Given the description of an element on the screen output the (x, y) to click on. 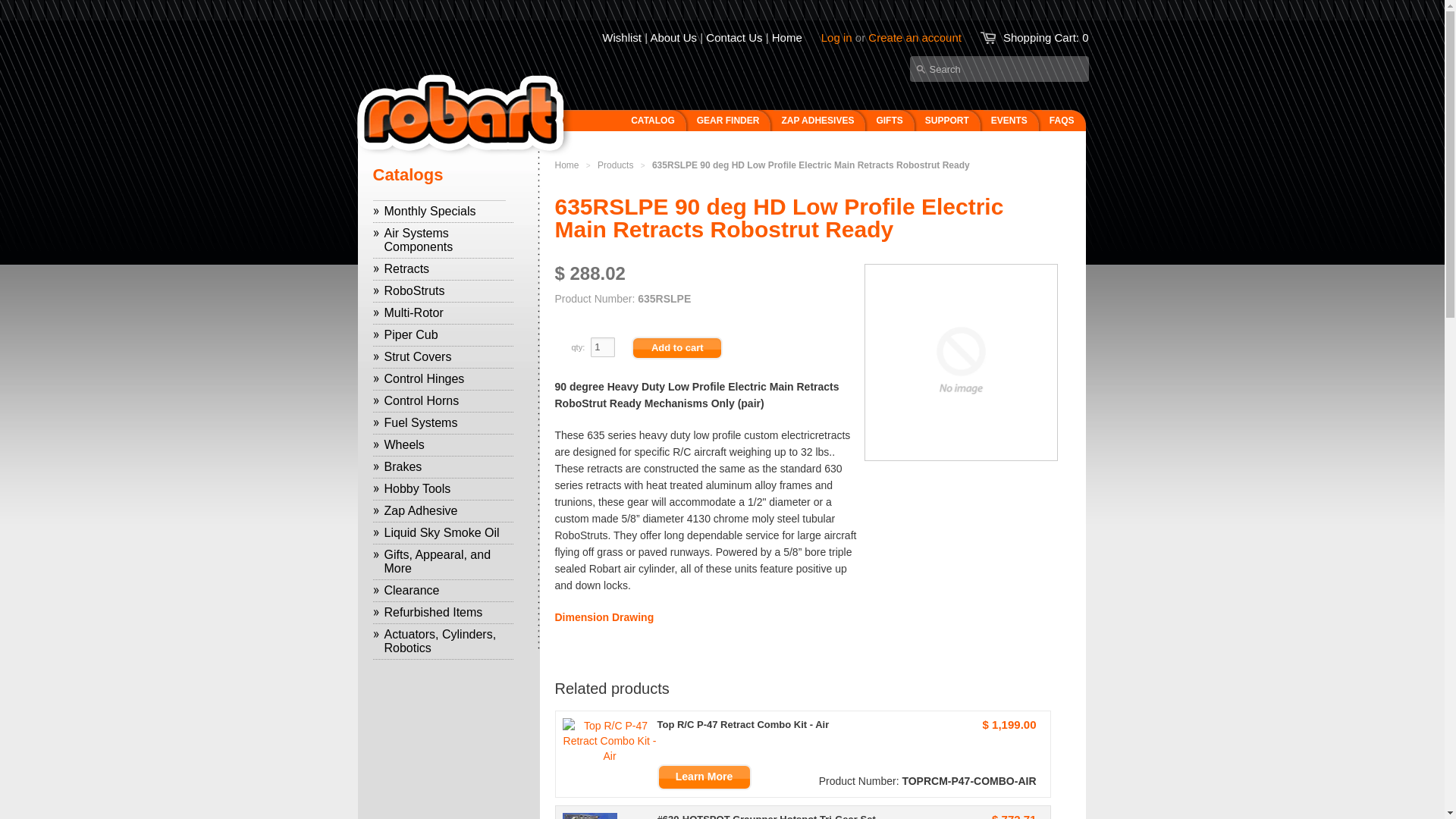
FAQS (1065, 127)
Monthly Specials (442, 211)
EVENTS (1013, 127)
Add to cart (676, 347)
GEAR FINDER (731, 127)
Wishlist (622, 37)
Shopping Cart: 0 (1046, 37)
CATALOG (612, 127)
GIFTS (892, 127)
About Us (673, 37)
Air Systems Components (442, 240)
Contact Us (733, 37)
Log in (836, 37)
Home (786, 37)
Robart Manufacturing (566, 164)
